Given the description of an element on the screen output the (x, y) to click on. 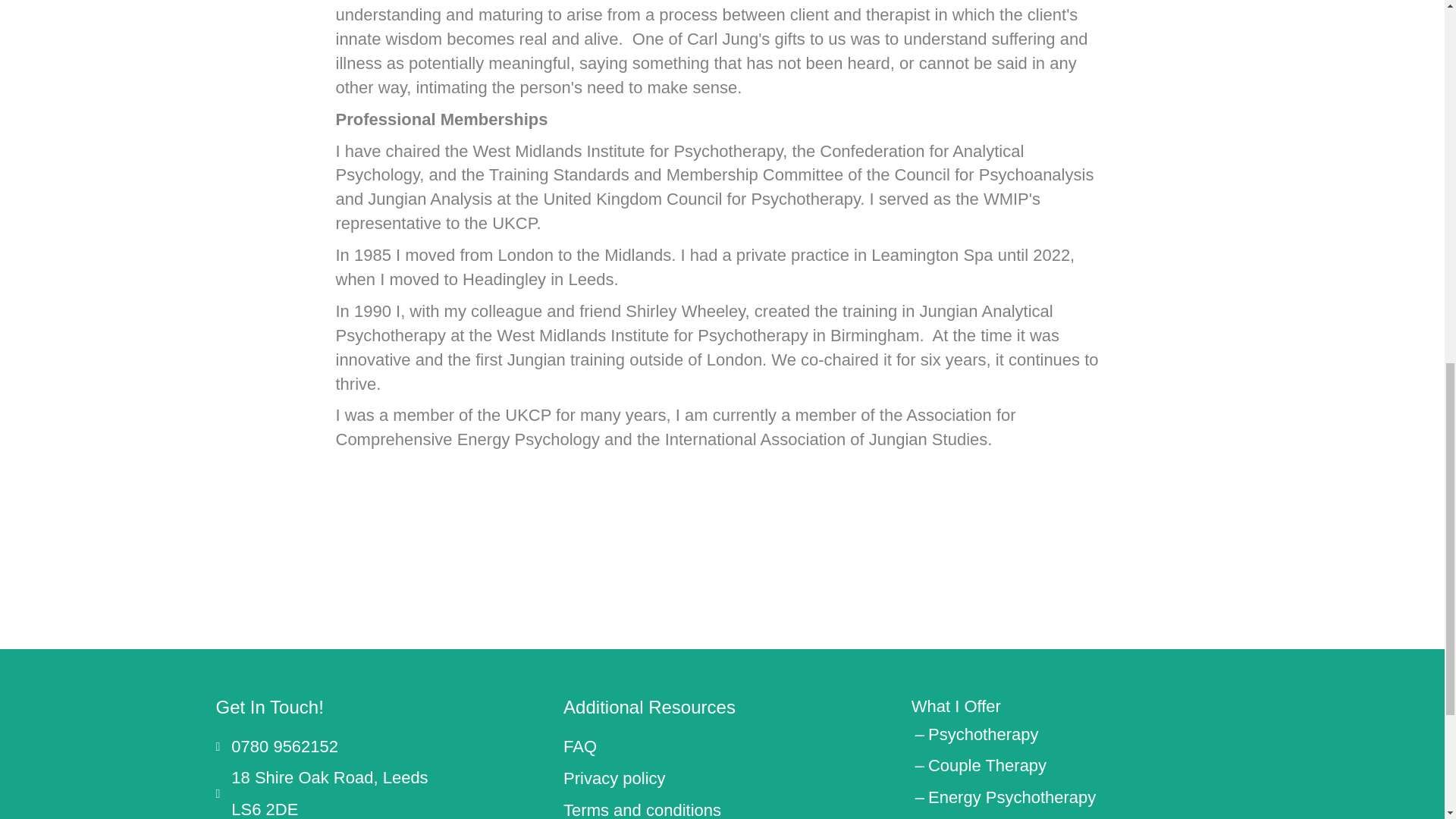
FAQ (579, 746)
What I Offer (956, 705)
Privacy policy (614, 778)
0780 9562152 (284, 746)
Couple Therapy (329, 792)
Psychotherapy (987, 764)
Energy Psychotherapy (956, 705)
Psychotherapy (1012, 796)
Terms and conditions (983, 733)
